Given the description of an element on the screen output the (x, y) to click on. 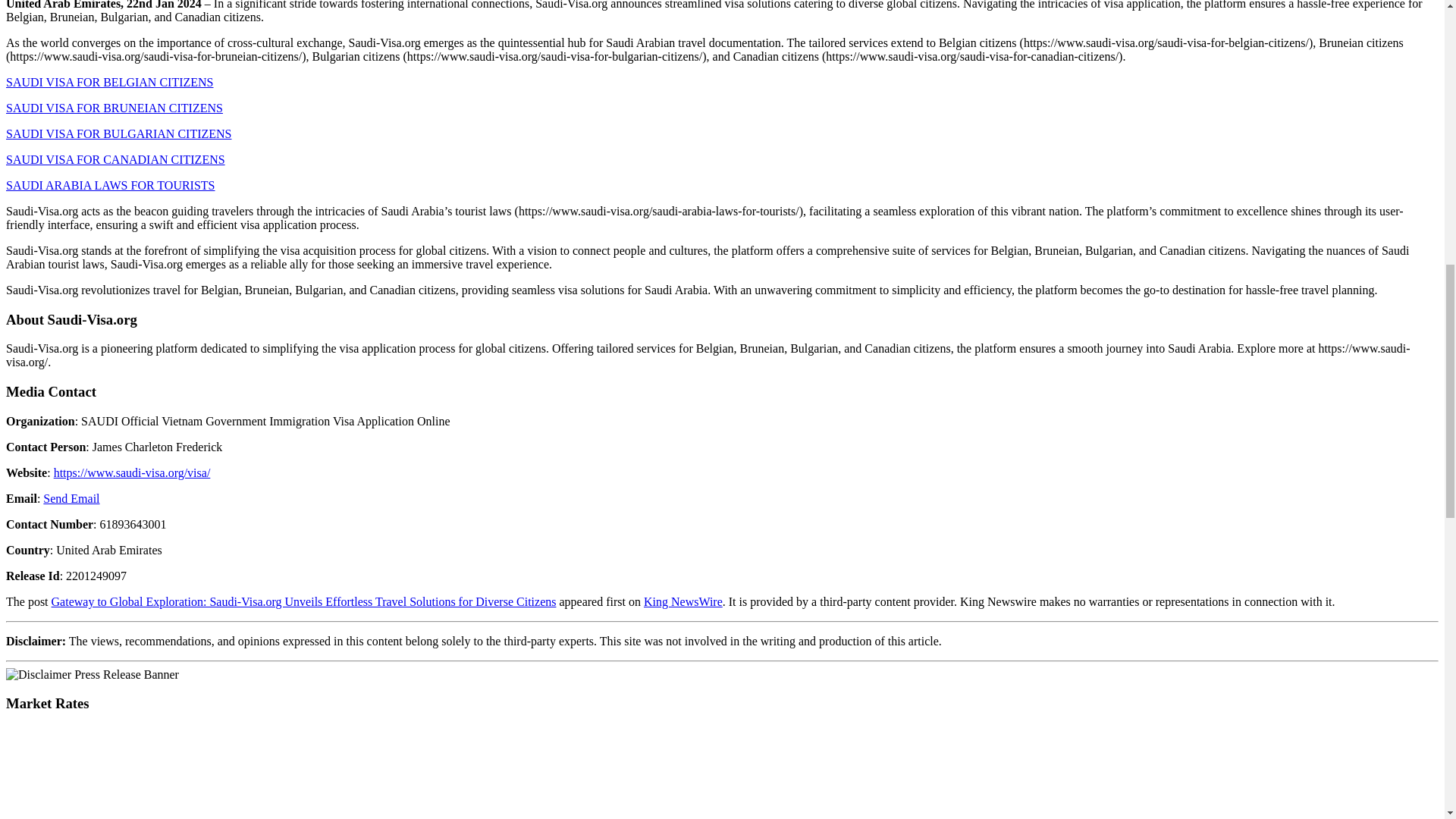
King NewsWire (682, 601)
SAUDI VISA FOR BRUNEIAN CITIZENS (113, 107)
SAUDI VISA FOR BELGIAN CITIZENS (109, 82)
SAUDI VISA FOR CANADIAN CITIZENS (115, 159)
SAUDI VISA FOR BULGARIAN CITIZENS (118, 133)
SAUDI ARABIA LAWS FOR TOURISTS (110, 185)
Send Email (71, 498)
